Given the description of an element on the screen output the (x, y) to click on. 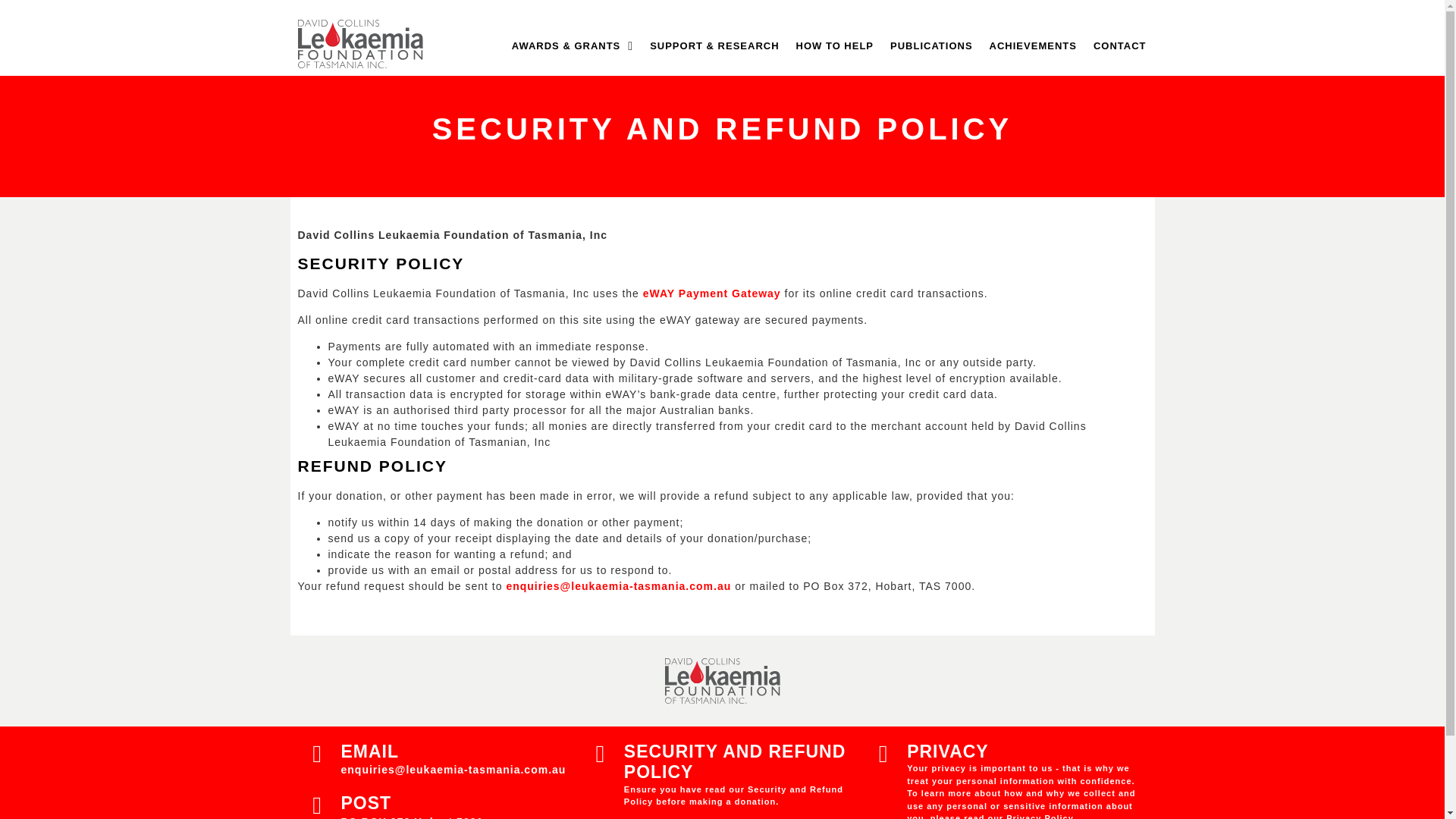
CONTACT (1120, 46)
eWAY Payment Gateway (711, 293)
ACHIEVEMENTS (1033, 46)
HOW TO HELP (834, 46)
PUBLICATIONS (930, 46)
